Given the description of an element on the screen output the (x, y) to click on. 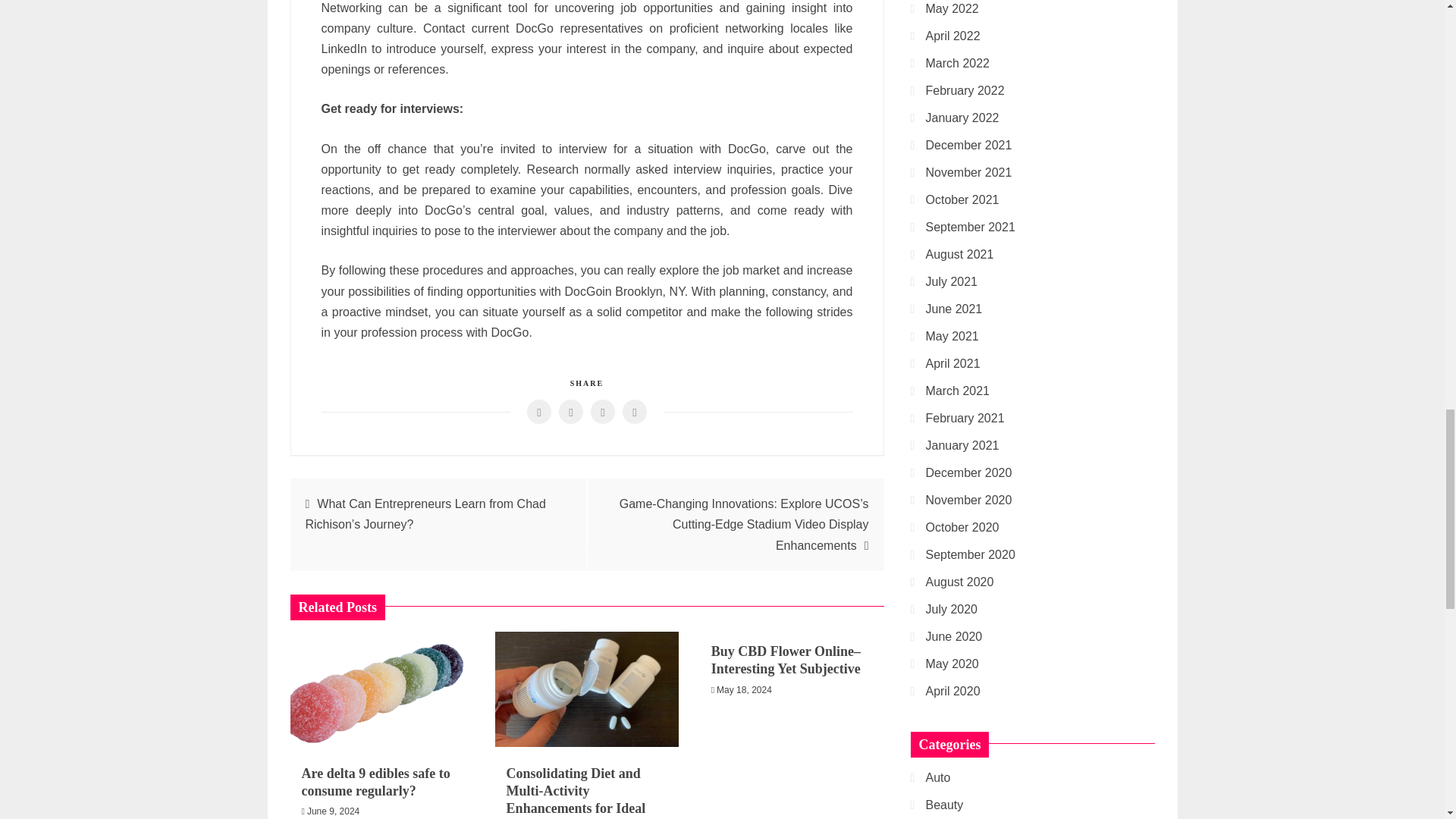
June 9, 2024 (333, 810)
Are delta 9 edibles safe to consume regularly? (375, 781)
